Given the description of an element on the screen output the (x, y) to click on. 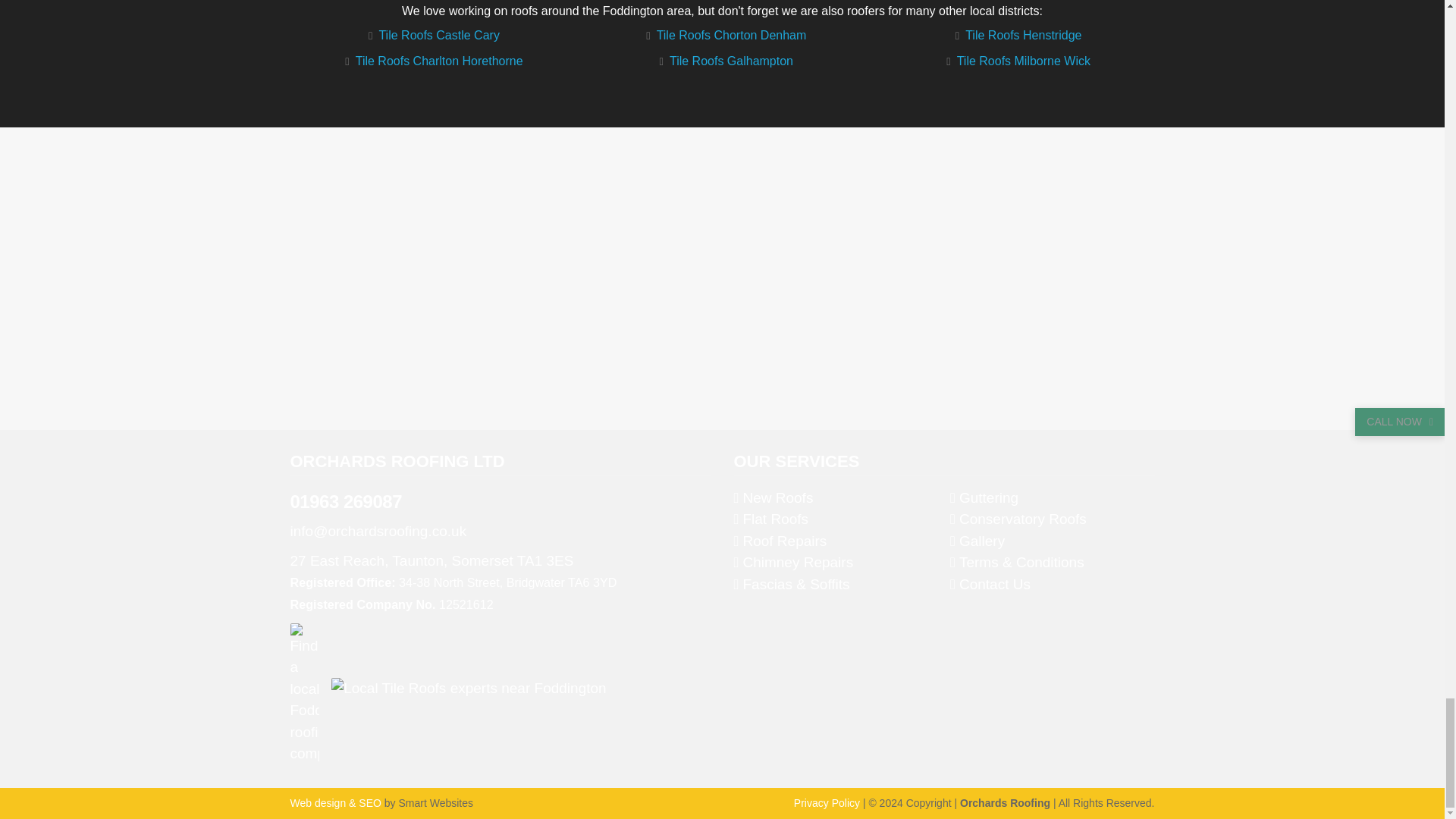
Visit the Smart Numbers Website (334, 802)
